Given the description of an element on the screen output the (x, y) to click on. 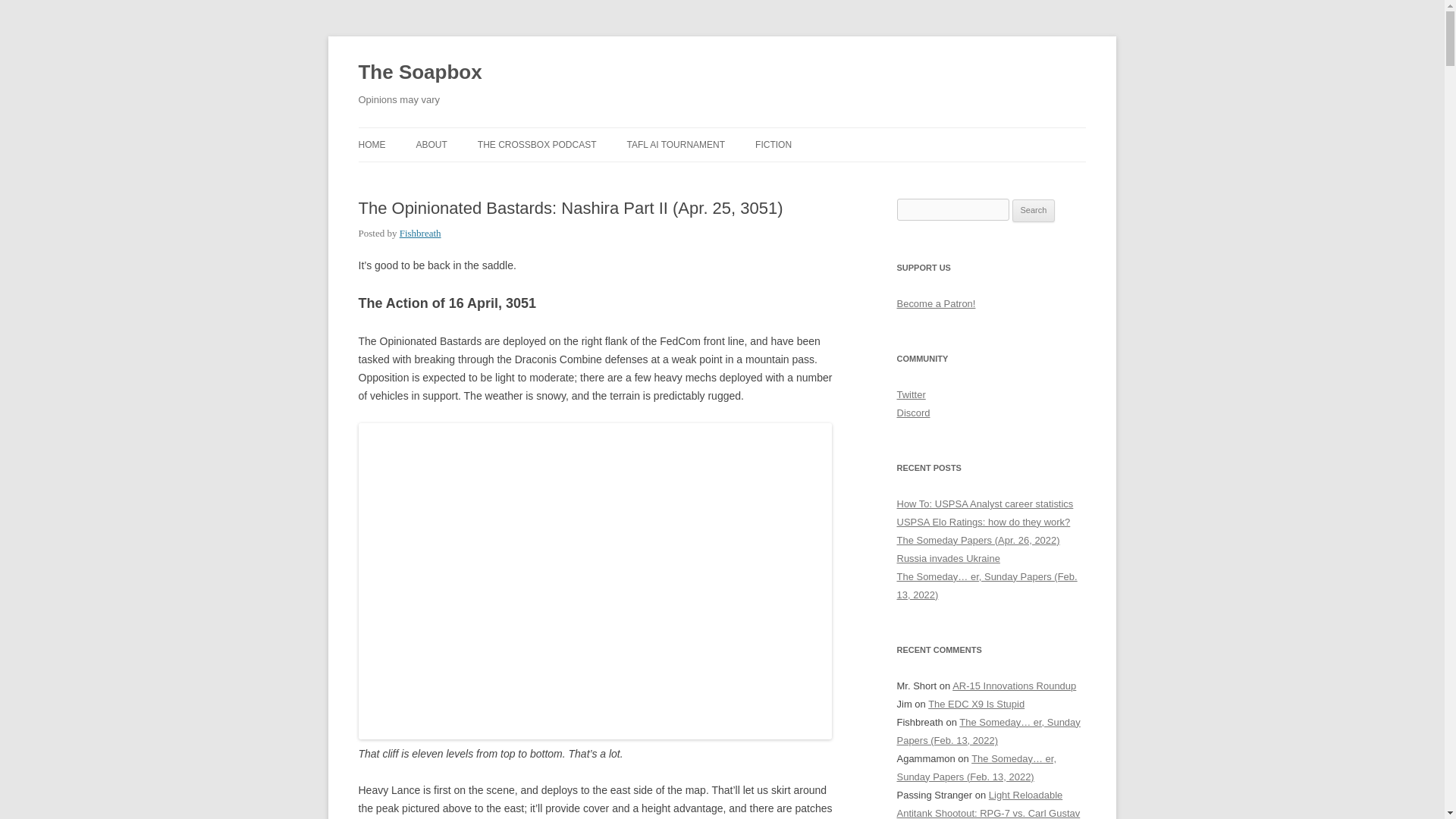
Light Reloadable Antitank Shootout: RPG-7 vs. Carl Gustav (988, 804)
Search (1033, 210)
ABOUT (430, 144)
Fishbreath (419, 233)
TAFL AI TOURNAMENT (675, 144)
Discord (913, 412)
The EDC X9 Is Stupid (976, 704)
Russia invades Ukraine (947, 558)
Search (1033, 210)
AR-15 Innovations Roundup (1013, 685)
